Given the description of an element on the screen output the (x, y) to click on. 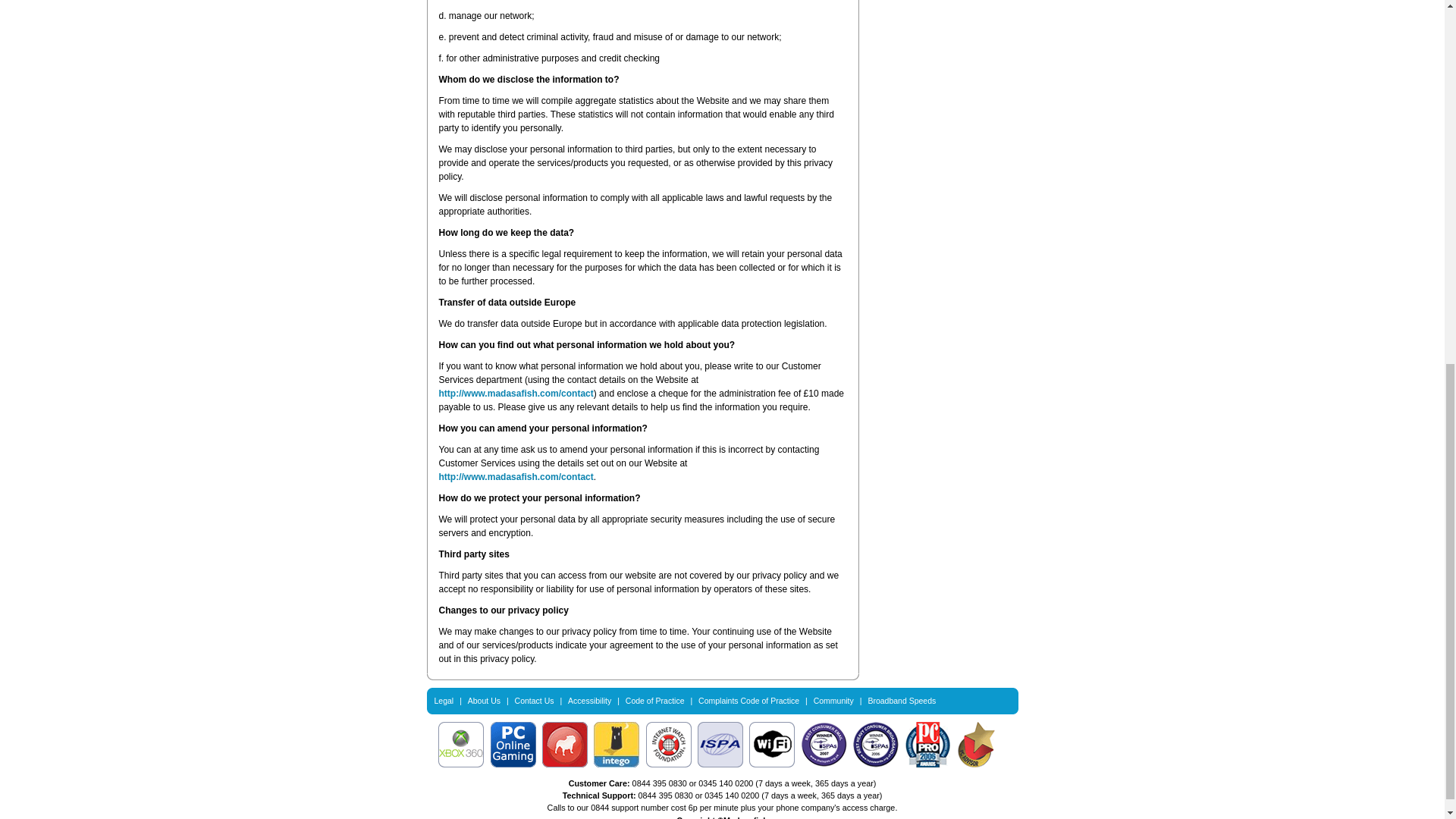
Community (833, 700)
Contact Us (534, 700)
Code of Practice (655, 700)
Complaints Code of Practice (748, 700)
Legal (442, 700)
About Us (483, 700)
Broadband Speeds (901, 700)
Accessibility (589, 700)
